Given the description of an element on the screen output the (x, y) to click on. 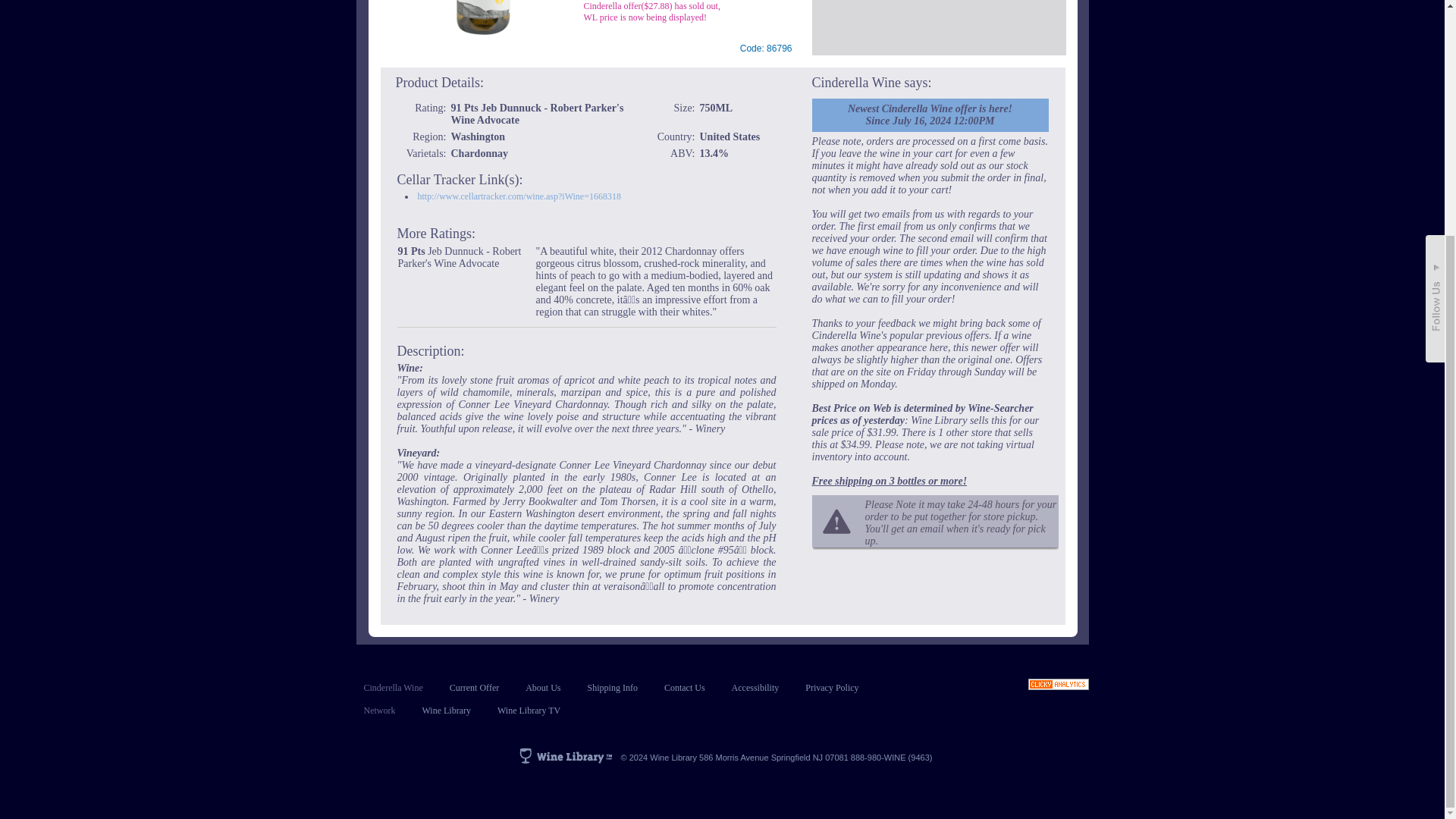
Wine Library TV (528, 710)
Wine Library (446, 710)
Accessibility (755, 687)
Wine Library Store (446, 710)
Shipping Info (612, 687)
About Us (542, 687)
Privacy Policy (832, 687)
Web Statistics (1058, 685)
Current Offer (474, 687)
Contact Us (683, 687)
Product bottle shot. (483, 18)
Accessibility (755, 687)
Contact Us (683, 687)
Current Offer (474, 687)
